Given the description of an element on the screen output the (x, y) to click on. 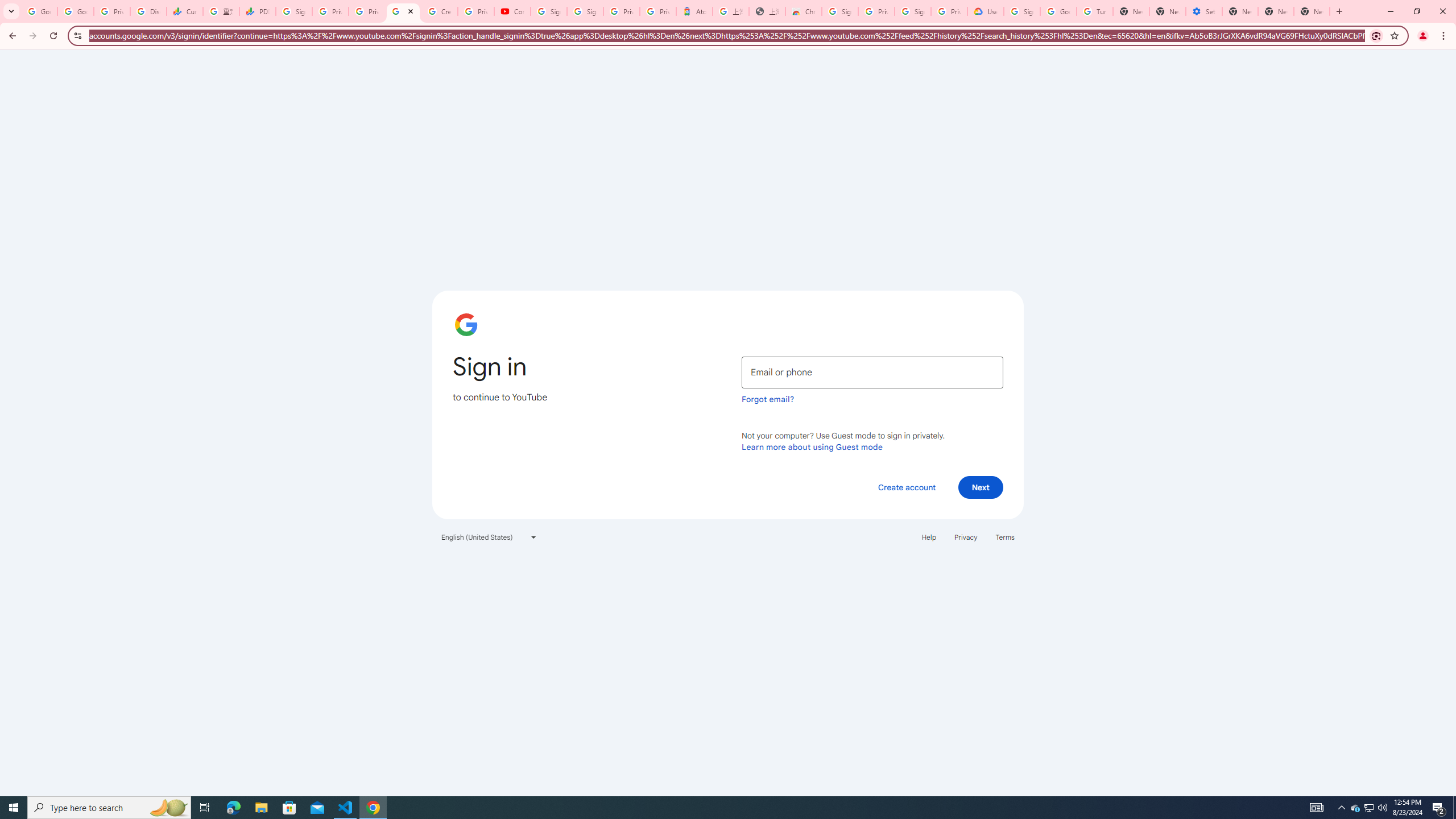
New Tab (1131, 11)
Settings - System (1203, 11)
Forgot email? (767, 398)
